Given the description of an element on the screen output the (x, y) to click on. 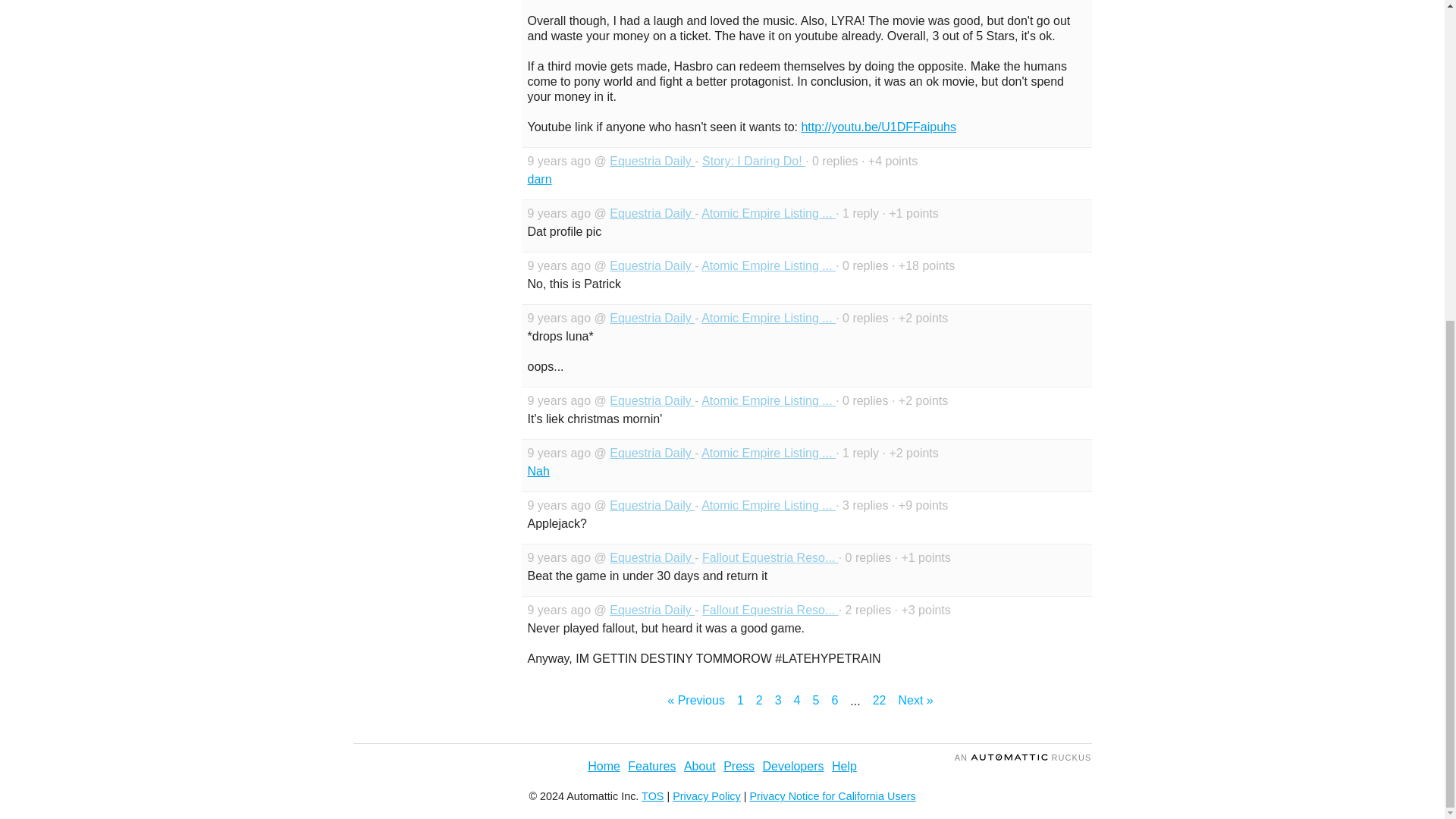
Nah (538, 471)
Atomic Empire Listing ... (768, 318)
Home (604, 766)
Atomic Empire Listing ... (768, 400)
Equestria Daily (652, 265)
Fallout Equestria Reso... (769, 557)
AN RUCKUS (1023, 757)
Equestria Daily (652, 213)
Atomic Empire Listing ... (768, 265)
Equestria Daily (652, 452)
